Given the description of an element on the screen output the (x, y) to click on. 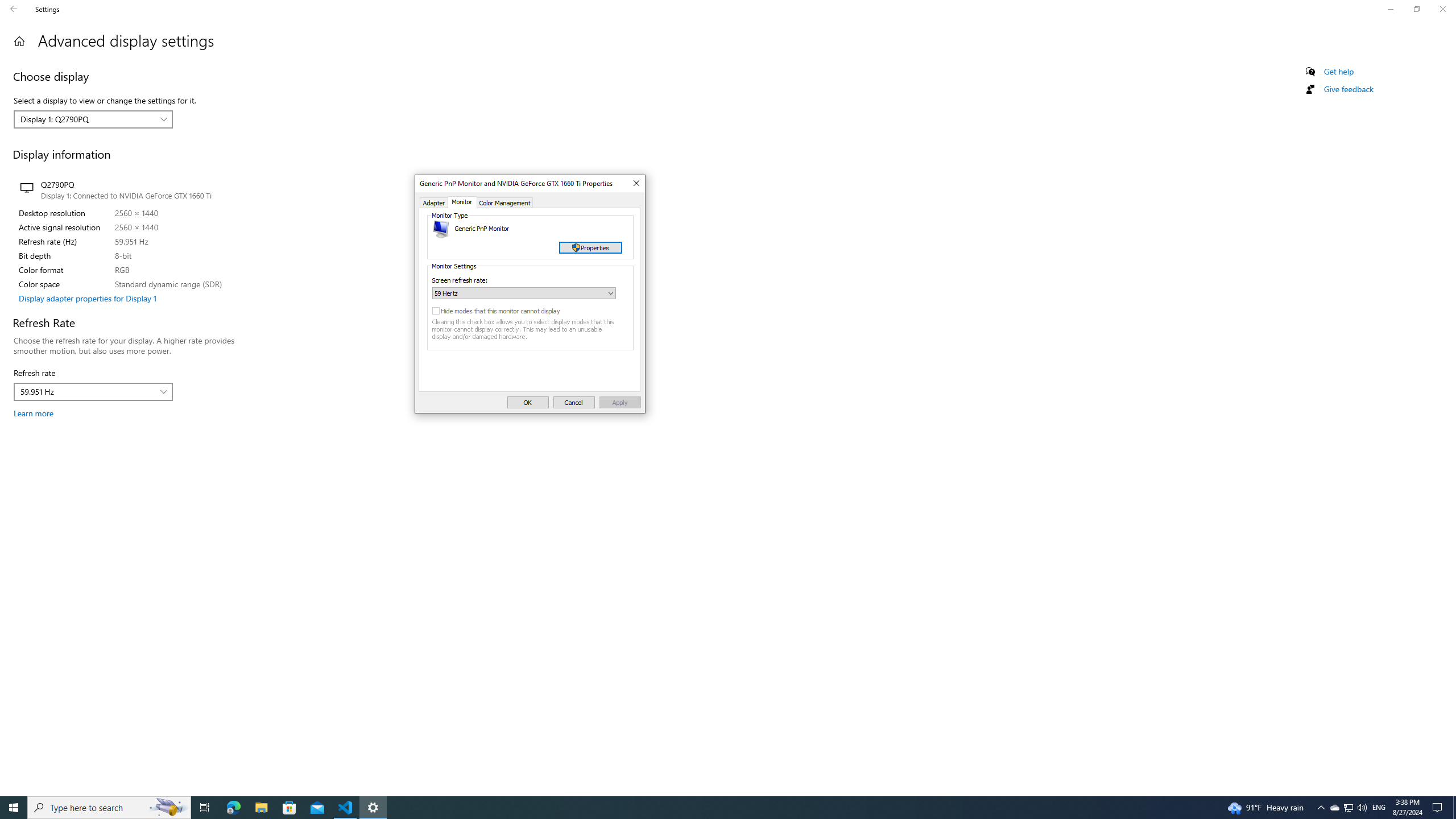
Hide modes that this monitor cannot display (508, 310)
Apply (620, 401)
Running applications (706, 807)
OK (527, 401)
Close (635, 183)
